Given the description of an element on the screen output the (x, y) to click on. 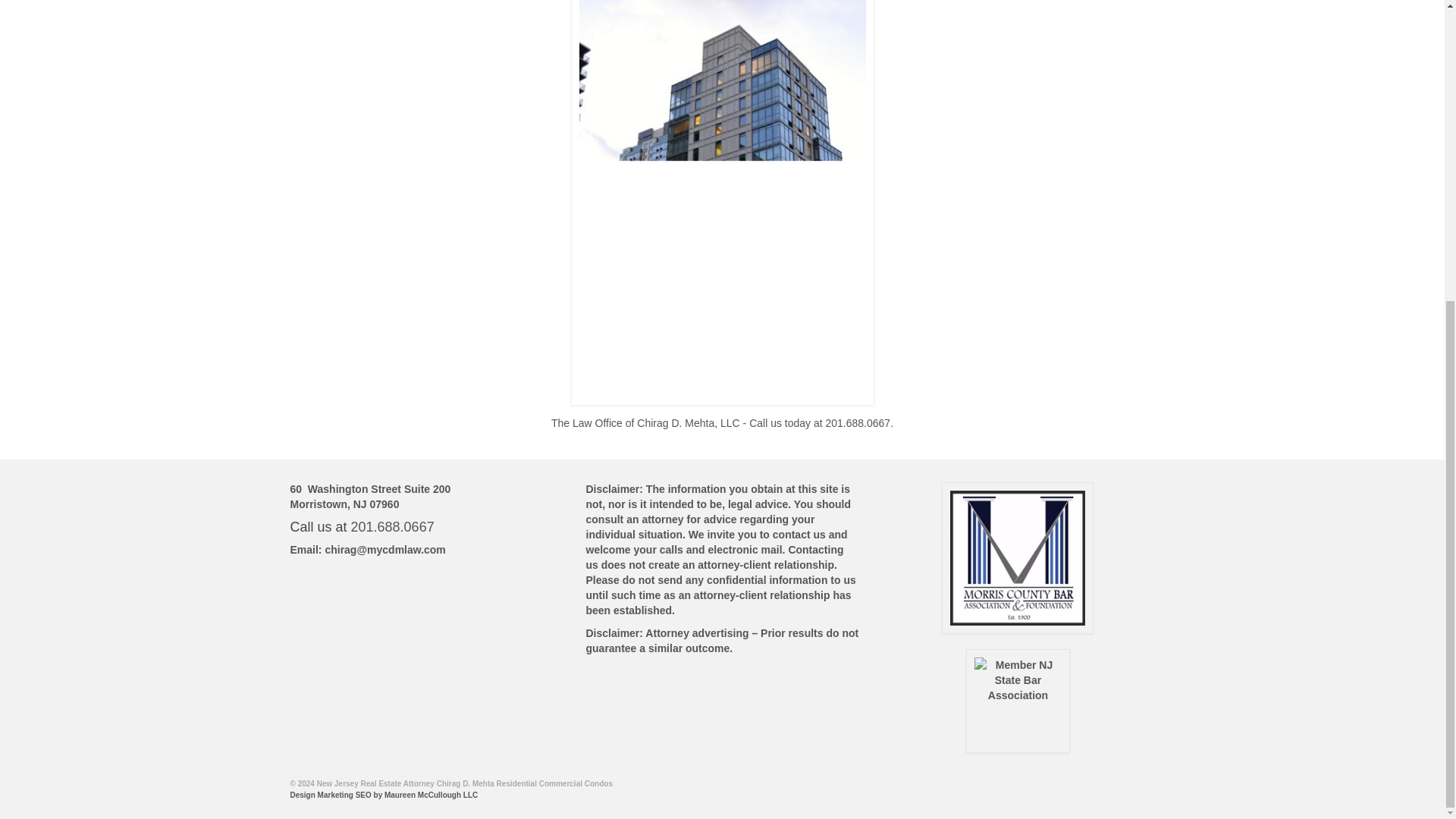
Design Marketing SEO by Maureen McCullough LLC (383, 795)
201.688.0667 (391, 526)
